Given the description of an element on the screen output the (x, y) to click on. 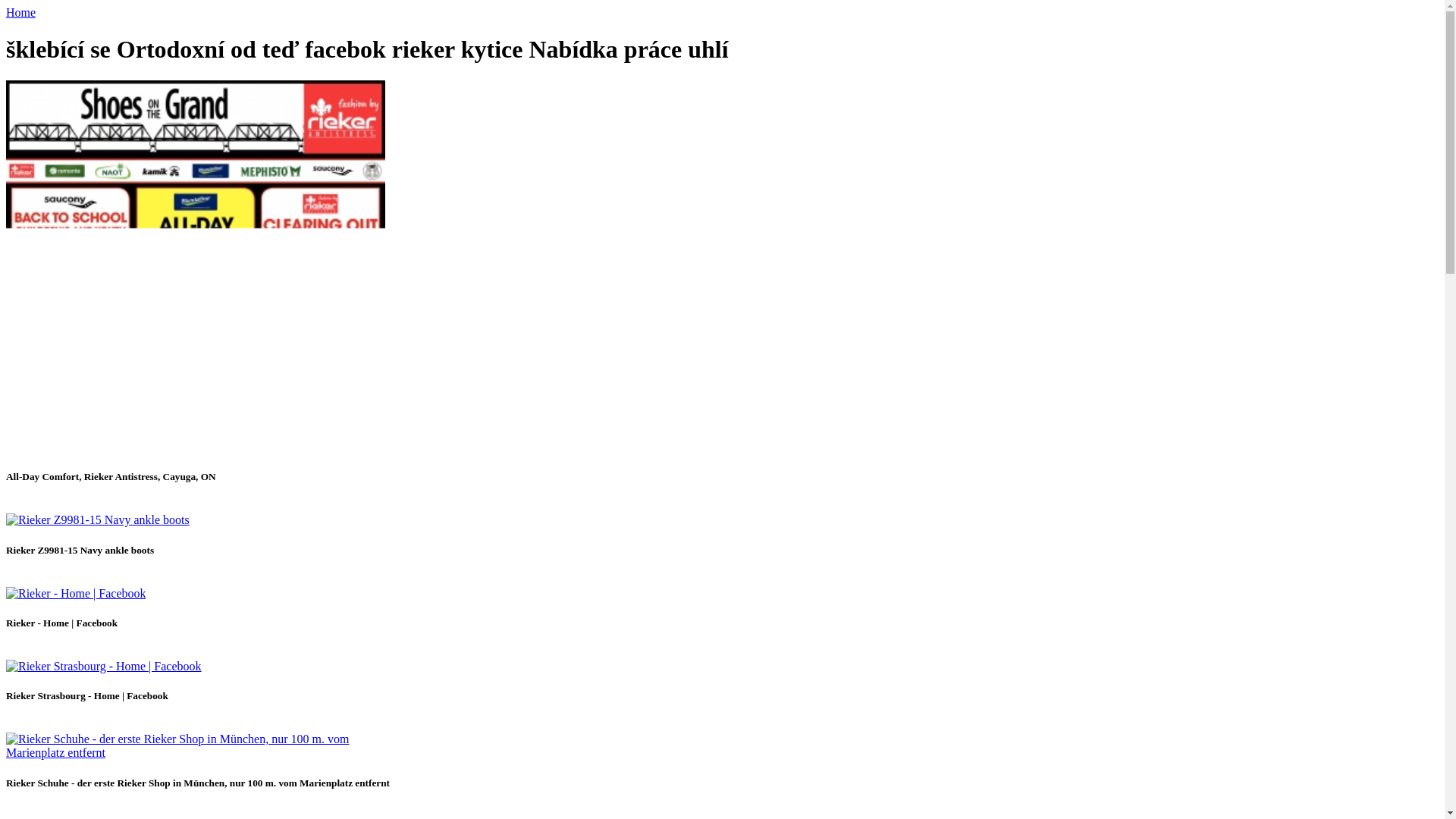
Rieker Z9981-15 Navy ankle boots (97, 520)
Rieker Z9981-15 Navy ankle boots (97, 519)
All-Day Comfort, Rieker Antistress, Cayuga, ON (195, 446)
Home (19, 11)
